Given the description of an element on the screen output the (x, y) to click on. 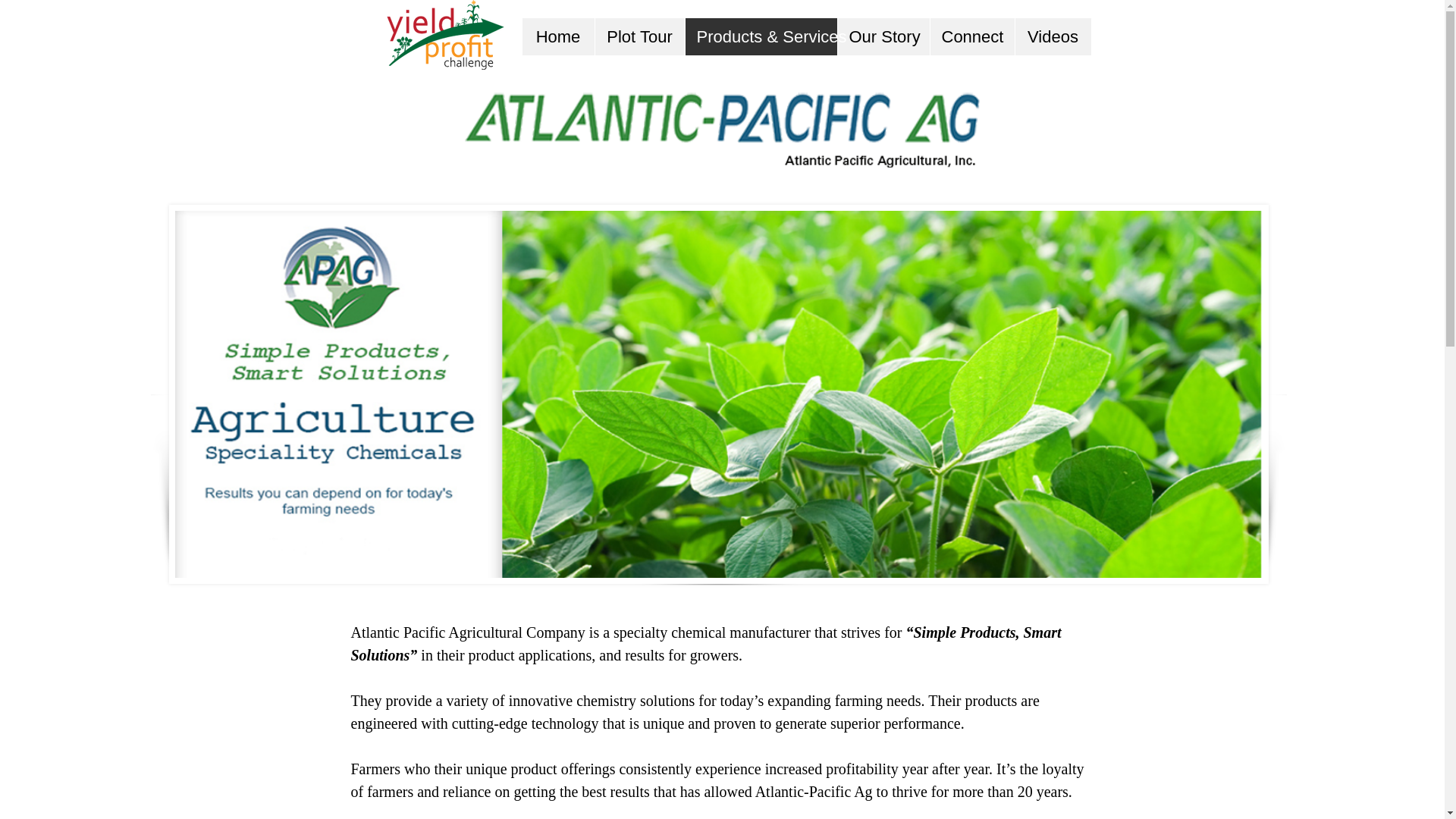
Our Story (883, 36)
Home (557, 36)
Plot Tour (639, 36)
Connect (972, 36)
Videos (1052, 36)
